Given the description of an element on the screen output the (x, y) to click on. 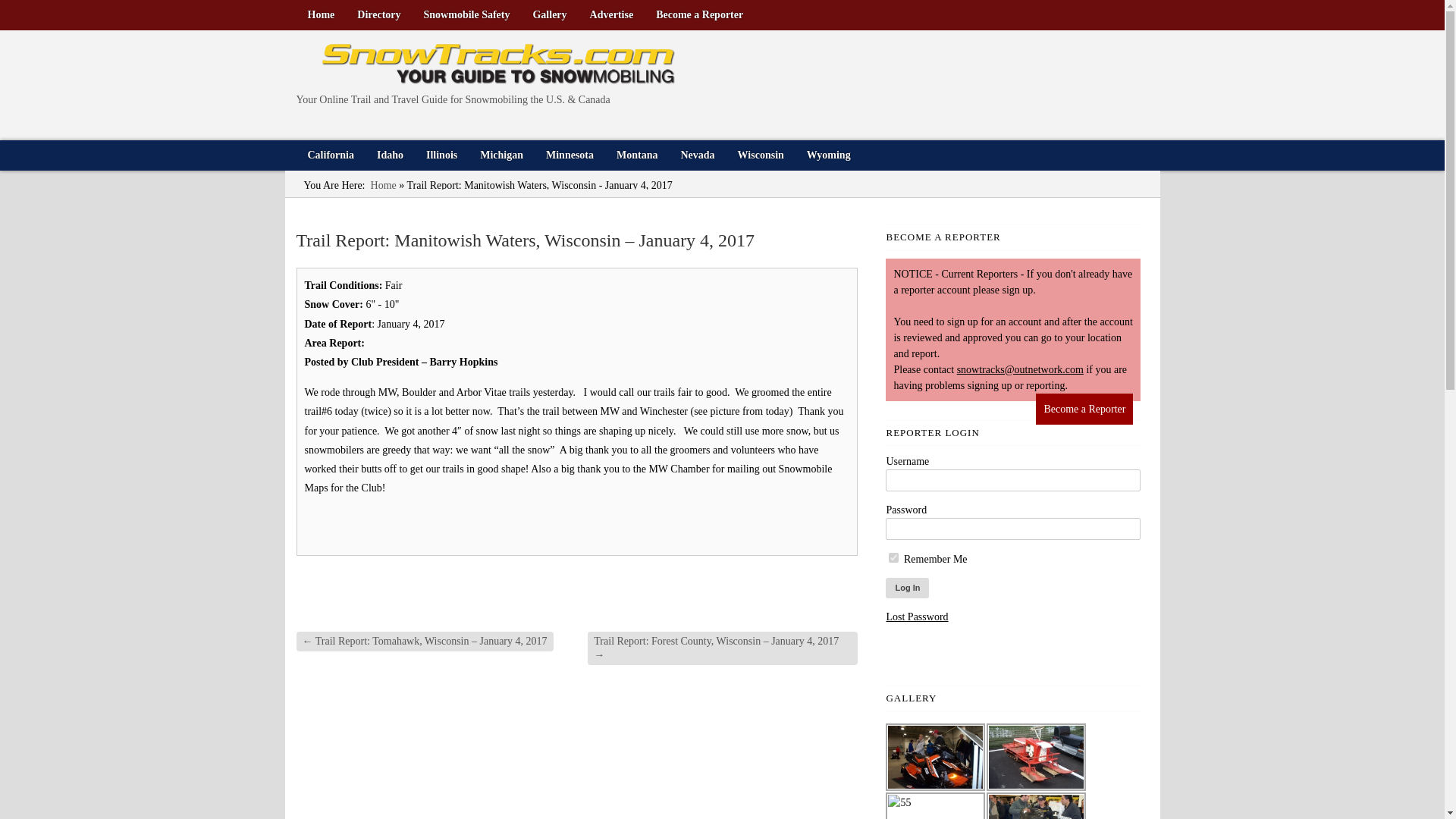
California (330, 155)
15 (1036, 757)
forever (893, 557)
Snowmobile Safety (466, 15)
Log In (906, 588)
Become a Reporter (699, 15)
Gallery (549, 15)
Illinois (441, 155)
Montana (636, 155)
Michigan (501, 155)
1 (935, 757)
Advertise (611, 15)
55 (935, 805)
121 (1036, 805)
Minnesota (569, 155)
